Given the description of an element on the screen output the (x, y) to click on. 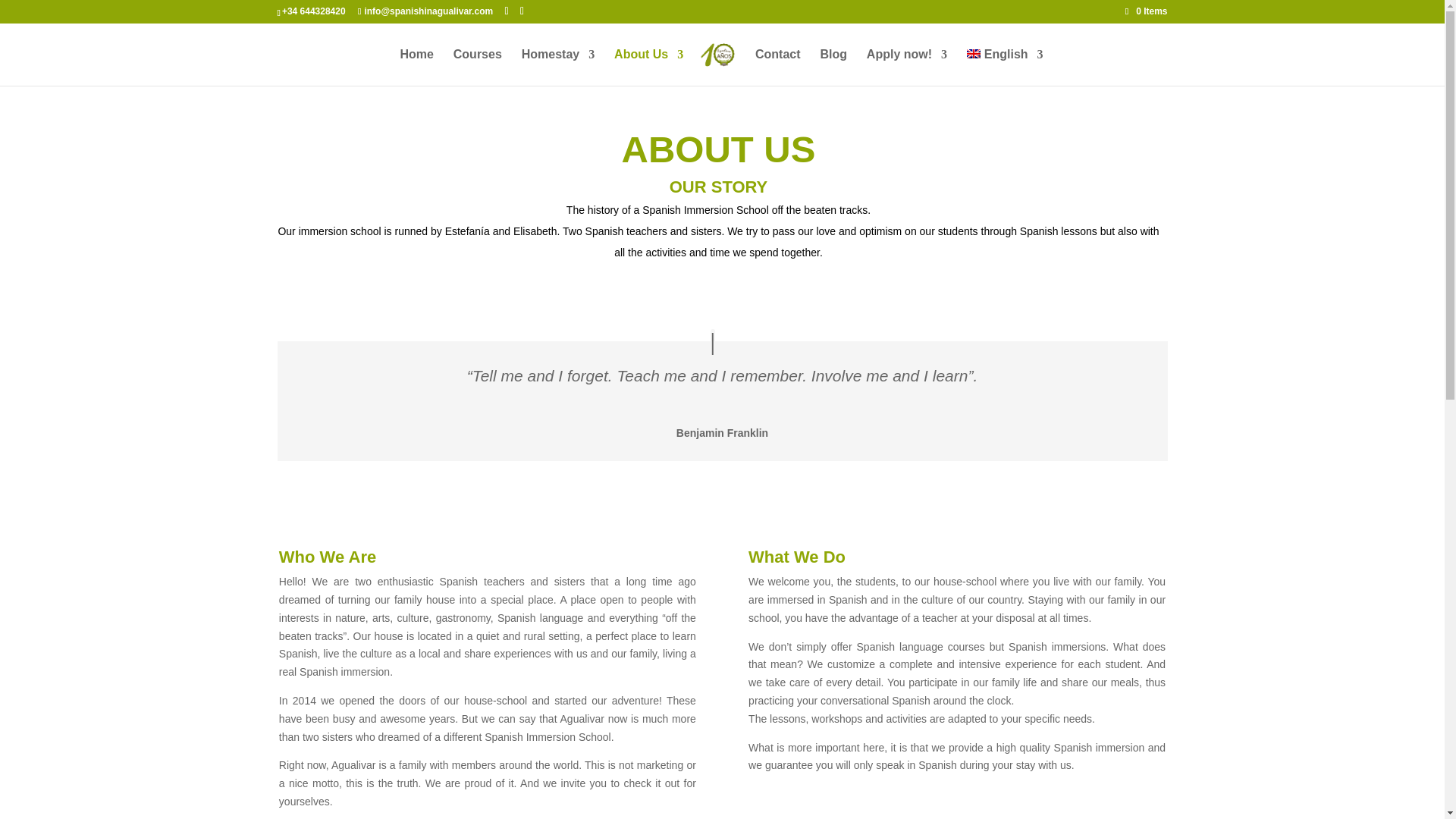
Apply now! (906, 67)
English (1004, 67)
Contact (777, 67)
Homestay (557, 67)
About Us (648, 67)
Home (415, 67)
0 Items (1146, 10)
English (1004, 67)
Courses (477, 67)
